Given the description of an element on the screen output the (x, y) to click on. 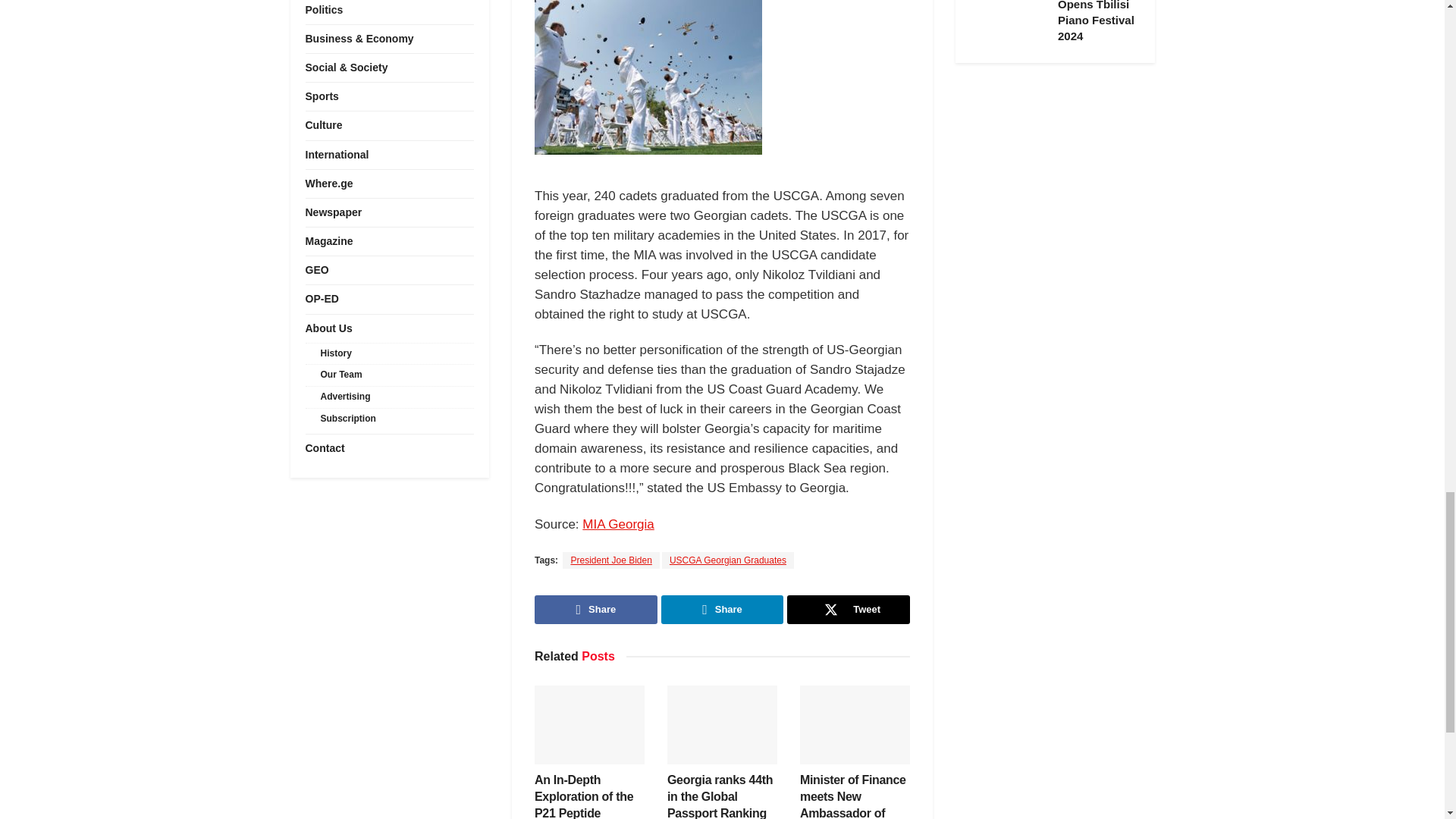
MIA Georgia (617, 523)
